Given the description of an element on the screen output the (x, y) to click on. 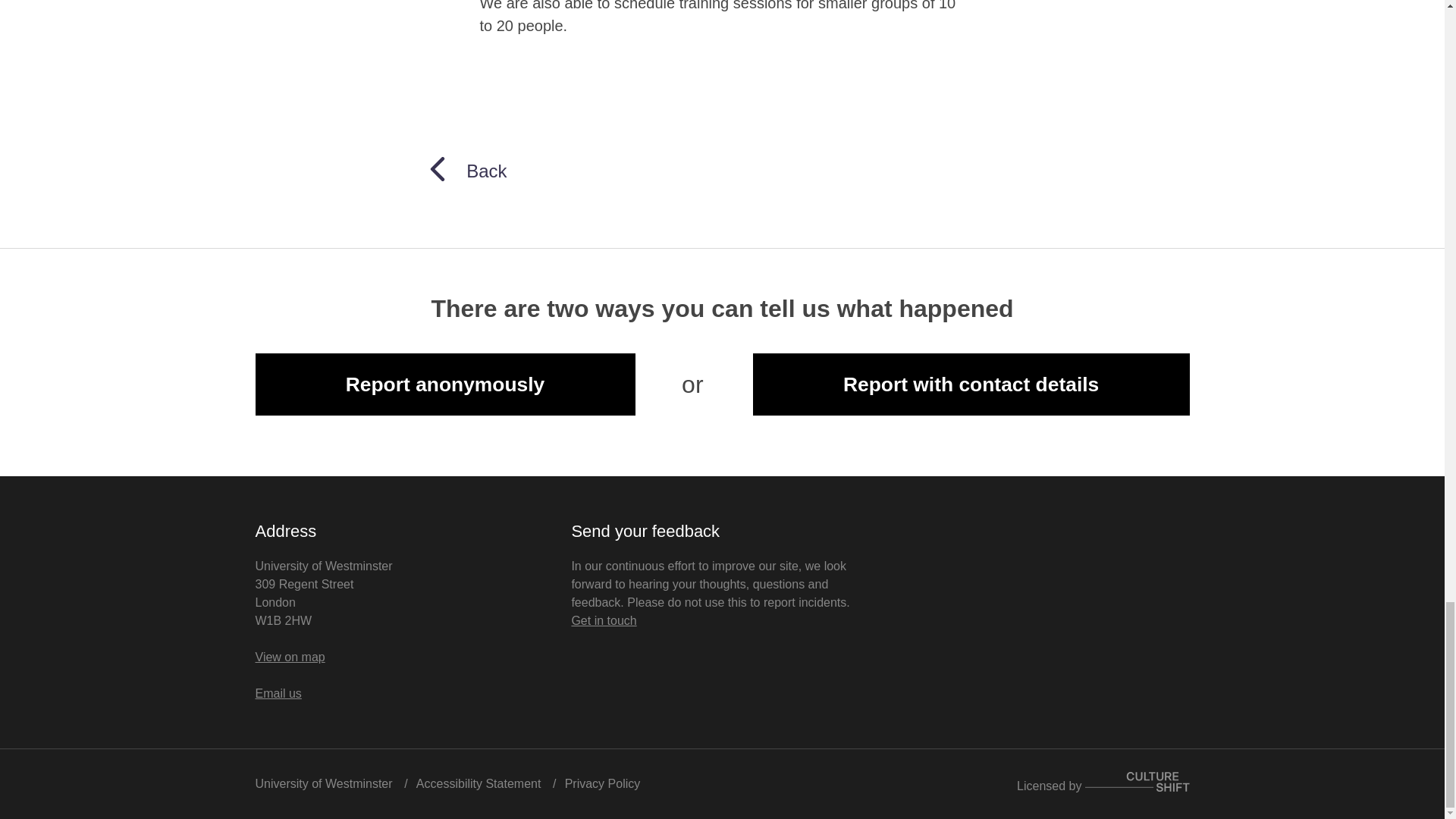
Email us (277, 693)
Accessibility Statement (478, 783)
Culture Shift (1136, 781)
View on map (289, 656)
Get in touch (603, 620)
Back (465, 170)
Report anonymously (444, 383)
Licensed by Culture Shift (1102, 785)
Privacy Policy (602, 783)
University of Westminster (322, 783)
Report with contact details (970, 383)
